Given the description of an element on the screen output the (x, y) to click on. 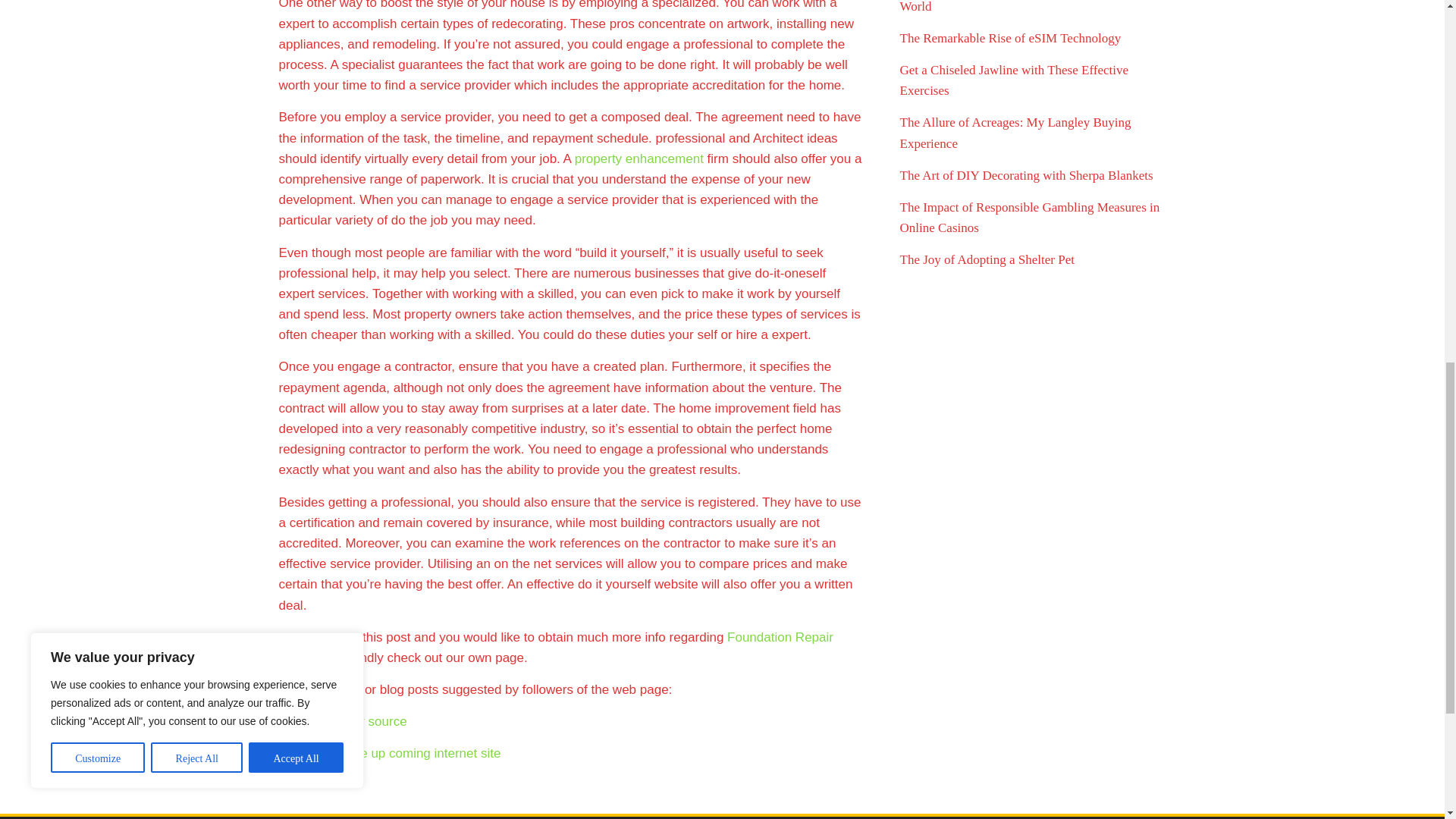
The Remarkable Rise of eSIM Technology (1010, 38)
mouse click the up coming internet site (389, 753)
property enhancement (639, 158)
Understanding Mental Health in the Corporate World (1019, 6)
Foundation Repair Lynn Haven (555, 647)
Get a Chiseled Jawline with These Effective Exercises (1013, 80)
Simply click for source (343, 721)
